Given the description of an element on the screen output the (x, y) to click on. 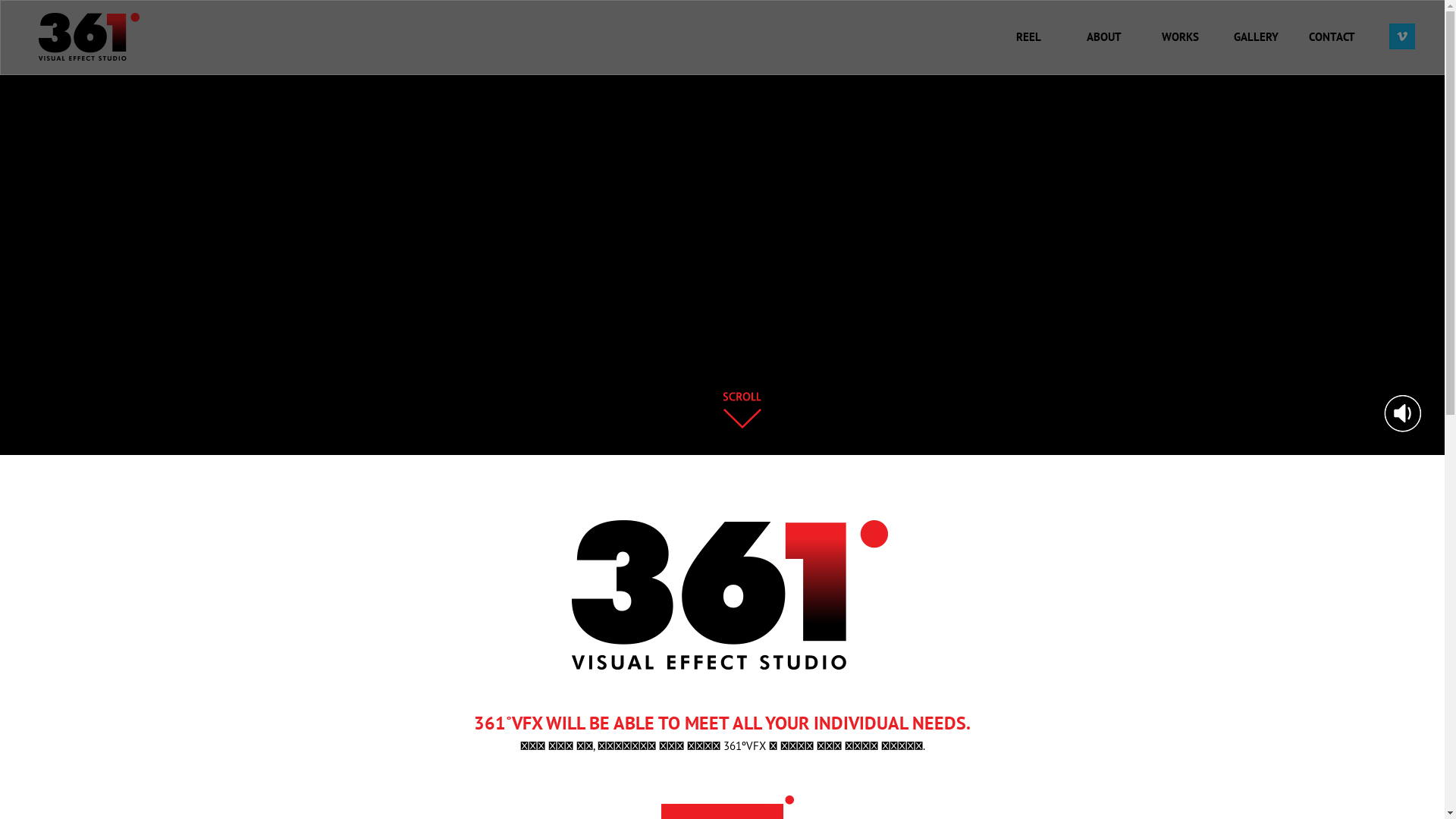
REEL Element type: text (1028, 36)
WORKS Element type: text (1179, 36)
GALLERY Element type: text (1255, 36)
CONTACT Element type: text (1331, 36)
ABOUT Element type: text (1104, 36)
